Given the description of an element on the screen output the (x, y) to click on. 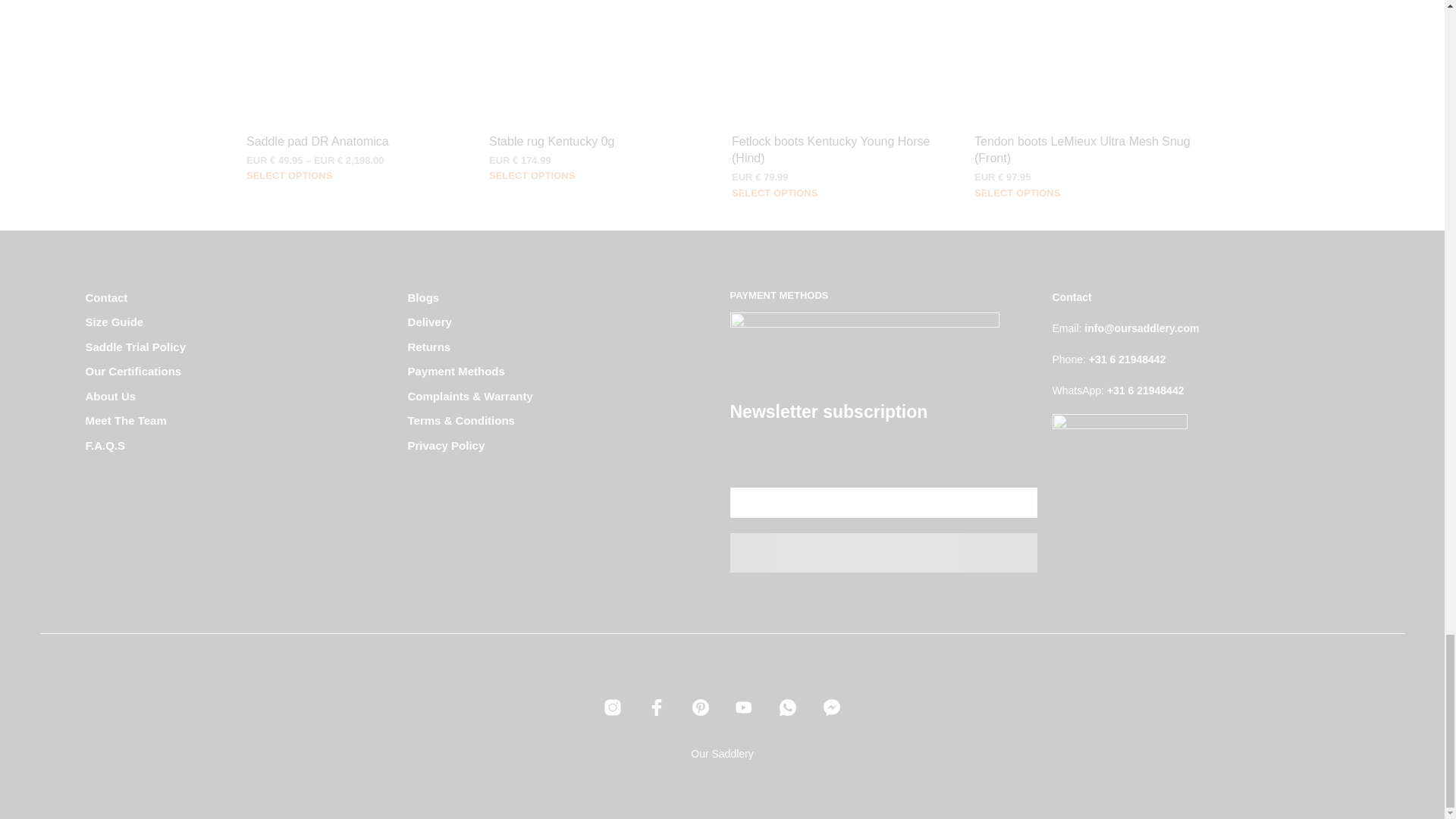
Subscribe (882, 552)
